Given the description of an element on the screen output the (x, y) to click on. 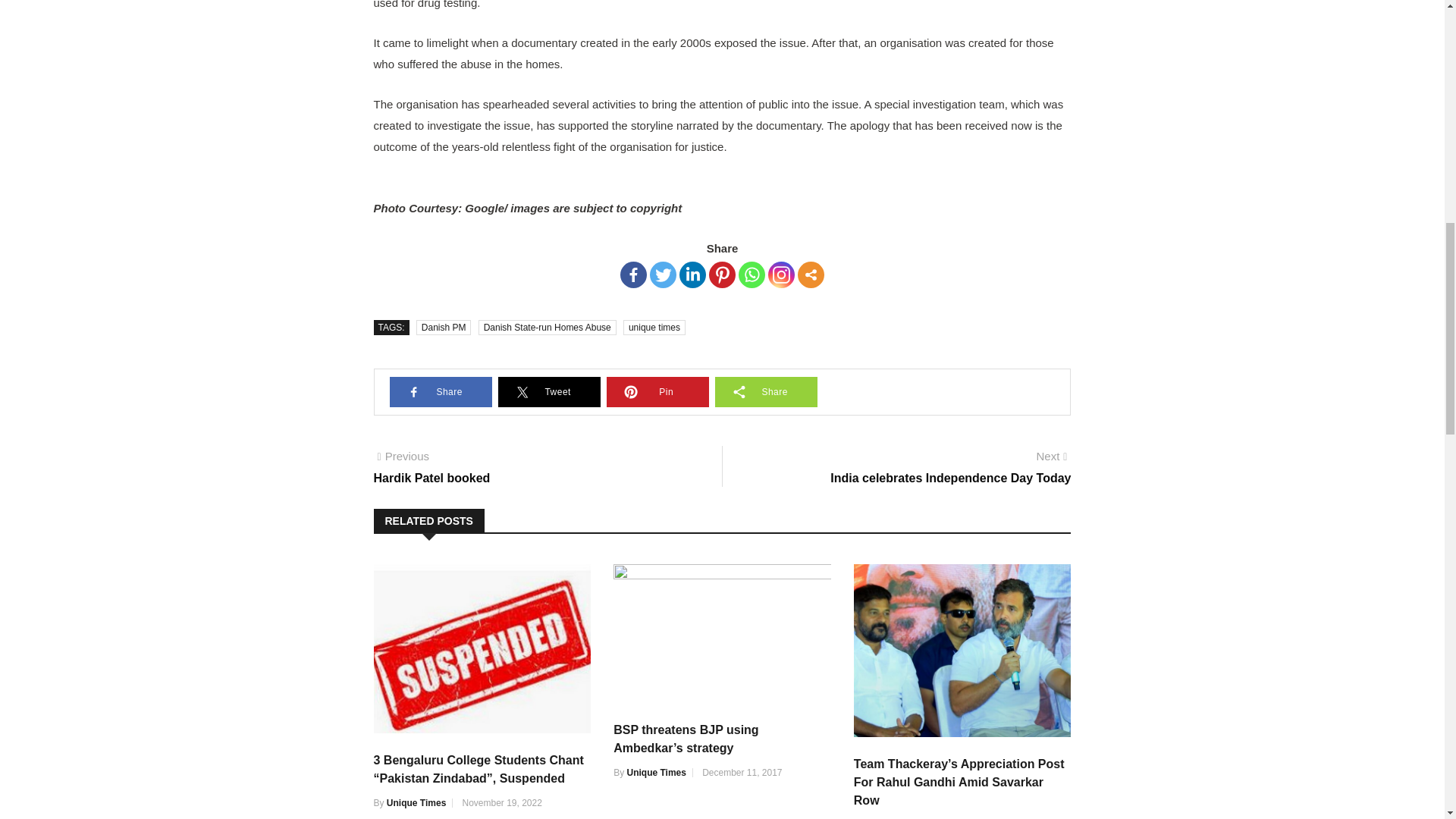
Danish PM (443, 327)
Linkedin (692, 274)
unique times (654, 327)
More (810, 274)
Danish State-run Homes Abuse (547, 327)
Instagram (781, 274)
Twitter (663, 274)
Facebook (633, 274)
Pinterest (722, 274)
Whatsapp (751, 274)
